Given the description of an element on the screen output the (x, y) to click on. 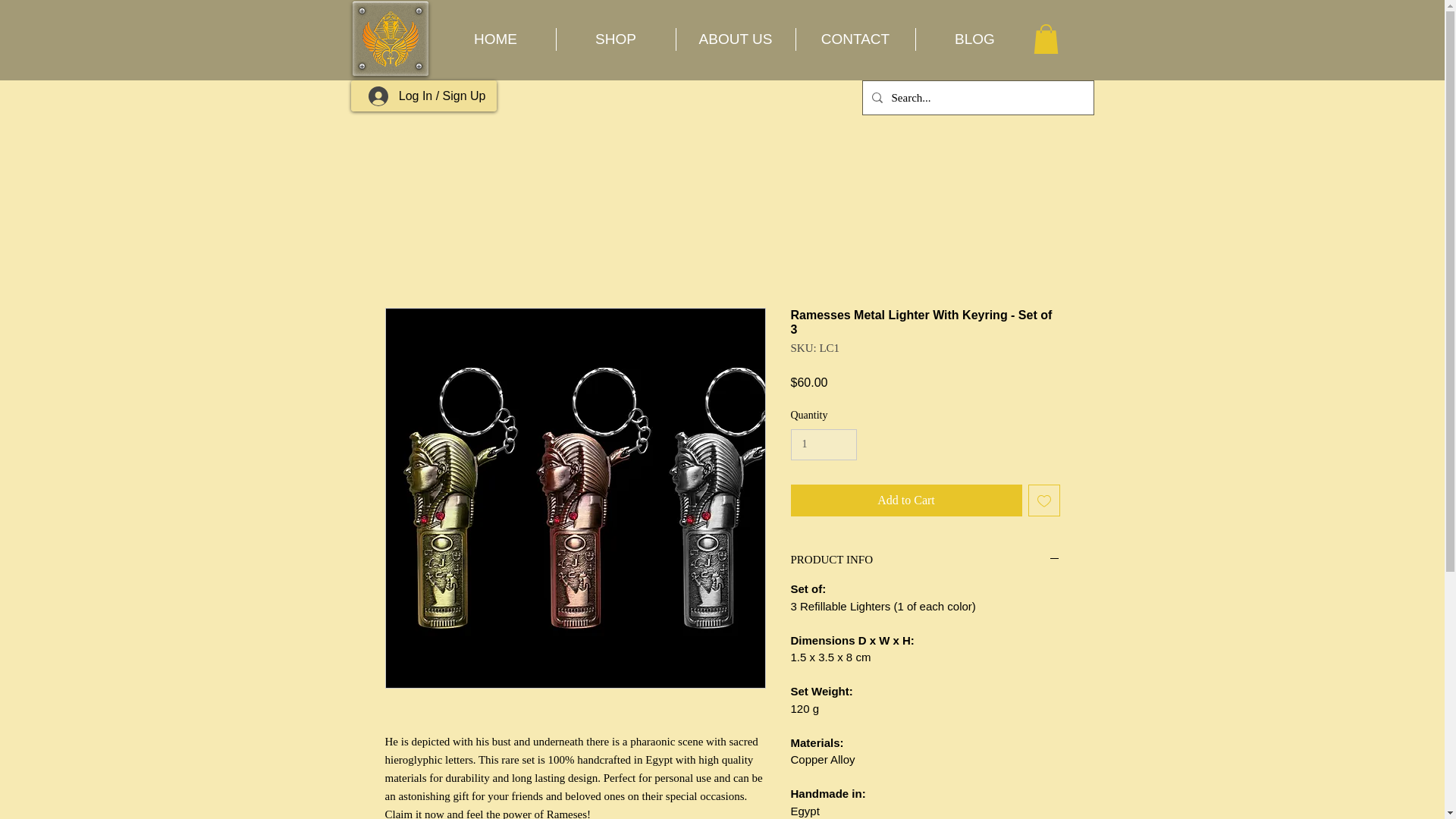
HOME (494, 38)
CONTACT (855, 38)
BLOG (974, 38)
Add to Cart (906, 500)
ABOUT US (735, 38)
PRODUCT INFO (924, 560)
1 (823, 444)
